Given the description of an element on the screen output the (x, y) to click on. 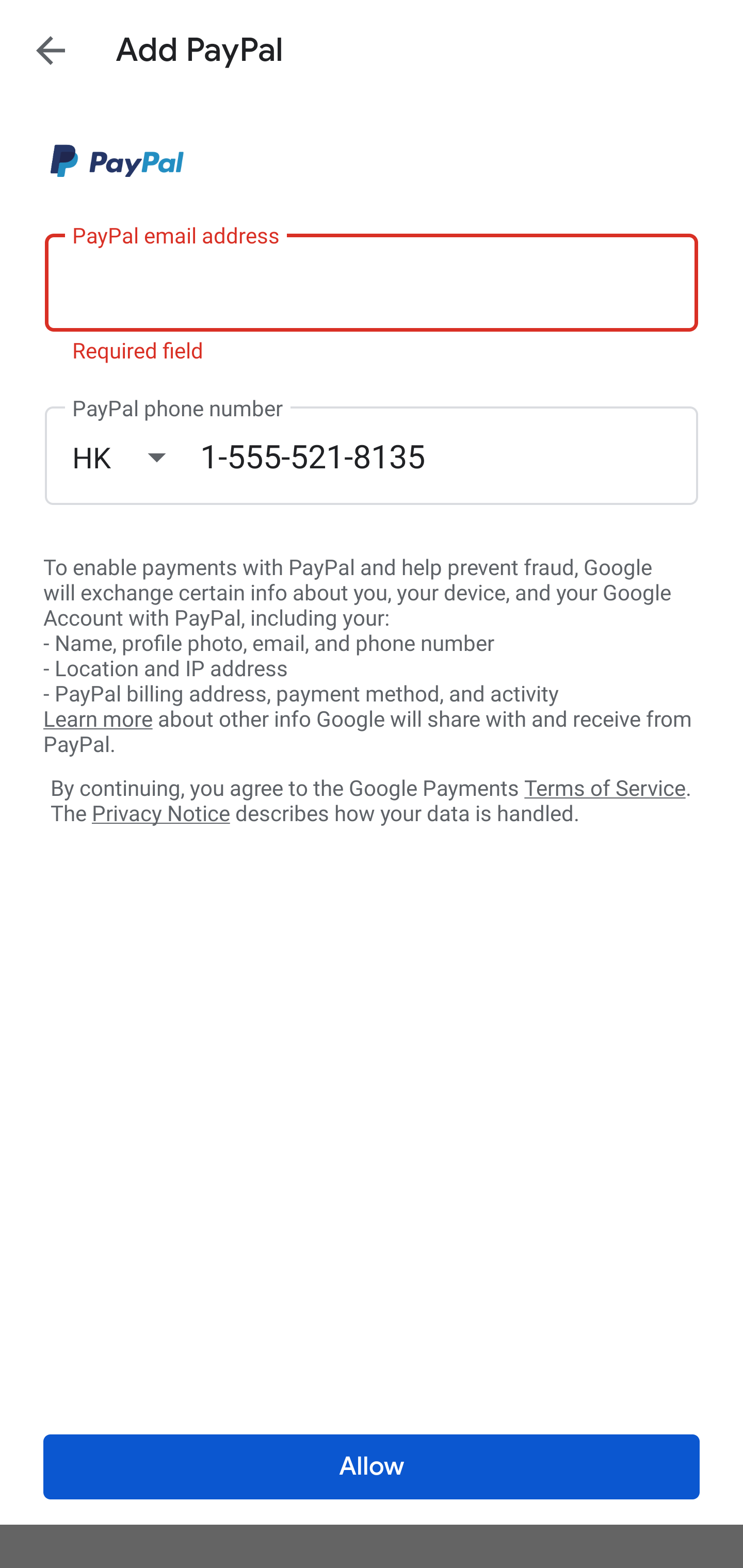
Navigate up (50, 50)
HK (135, 456)
Learn more (97, 719)
Terms of Service (604, 787)
Privacy Notice (160, 814)
Allow (371, 1466)
